Given the description of an element on the screen output the (x, y) to click on. 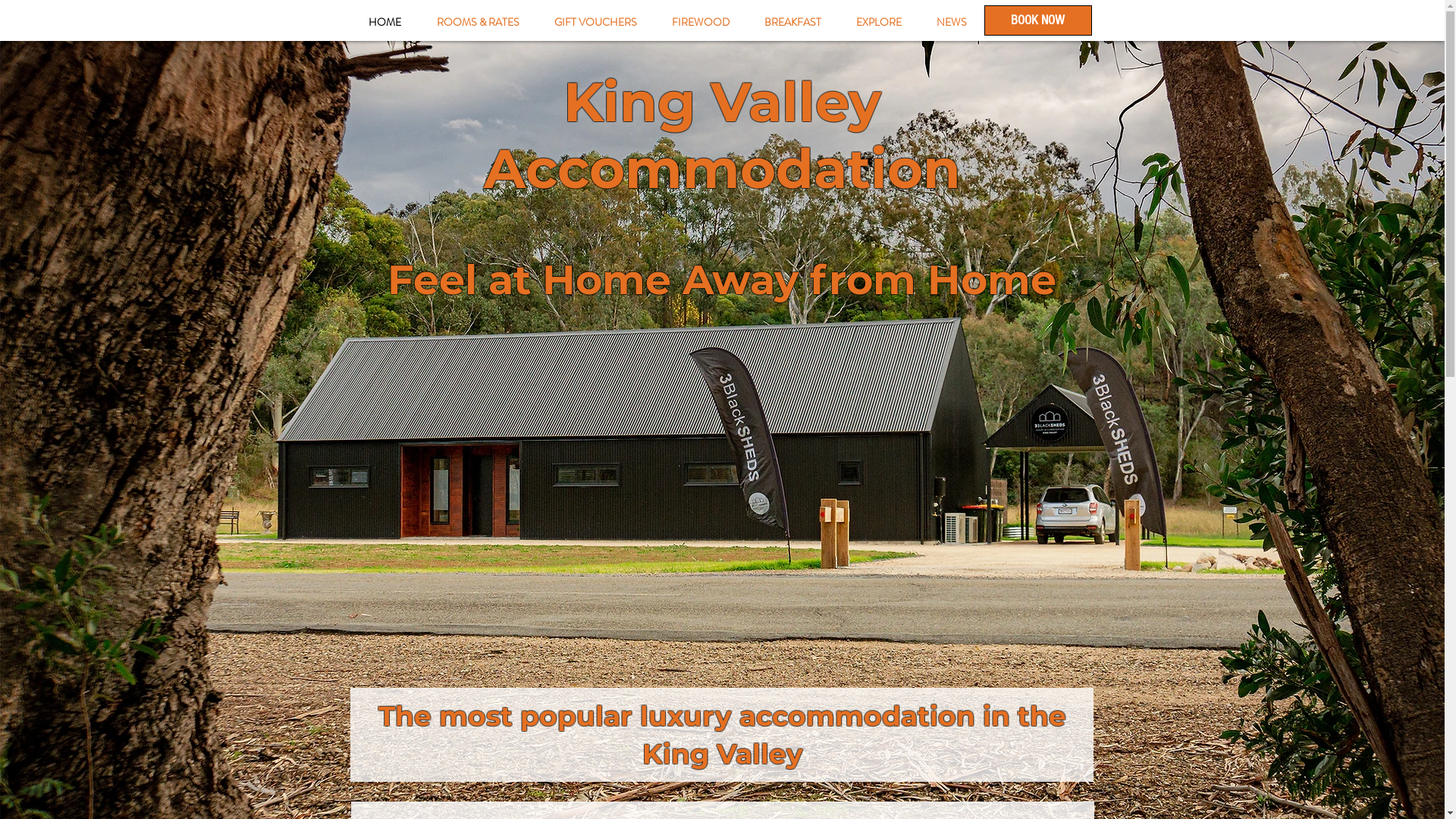
NEWS Element type: text (951, 22)
HOME Element type: text (384, 22)
ROOMS & RATES Element type: text (477, 22)
FIREWOOD Element type: text (699, 22)
GIFT VOUCHERS Element type: text (595, 22)
BOOK NOW Element type: text (1038, 20)
BREAKFAST Element type: text (791, 22)
EXPLORE Element type: text (878, 22)
